Given the description of an element on the screen output the (x, y) to click on. 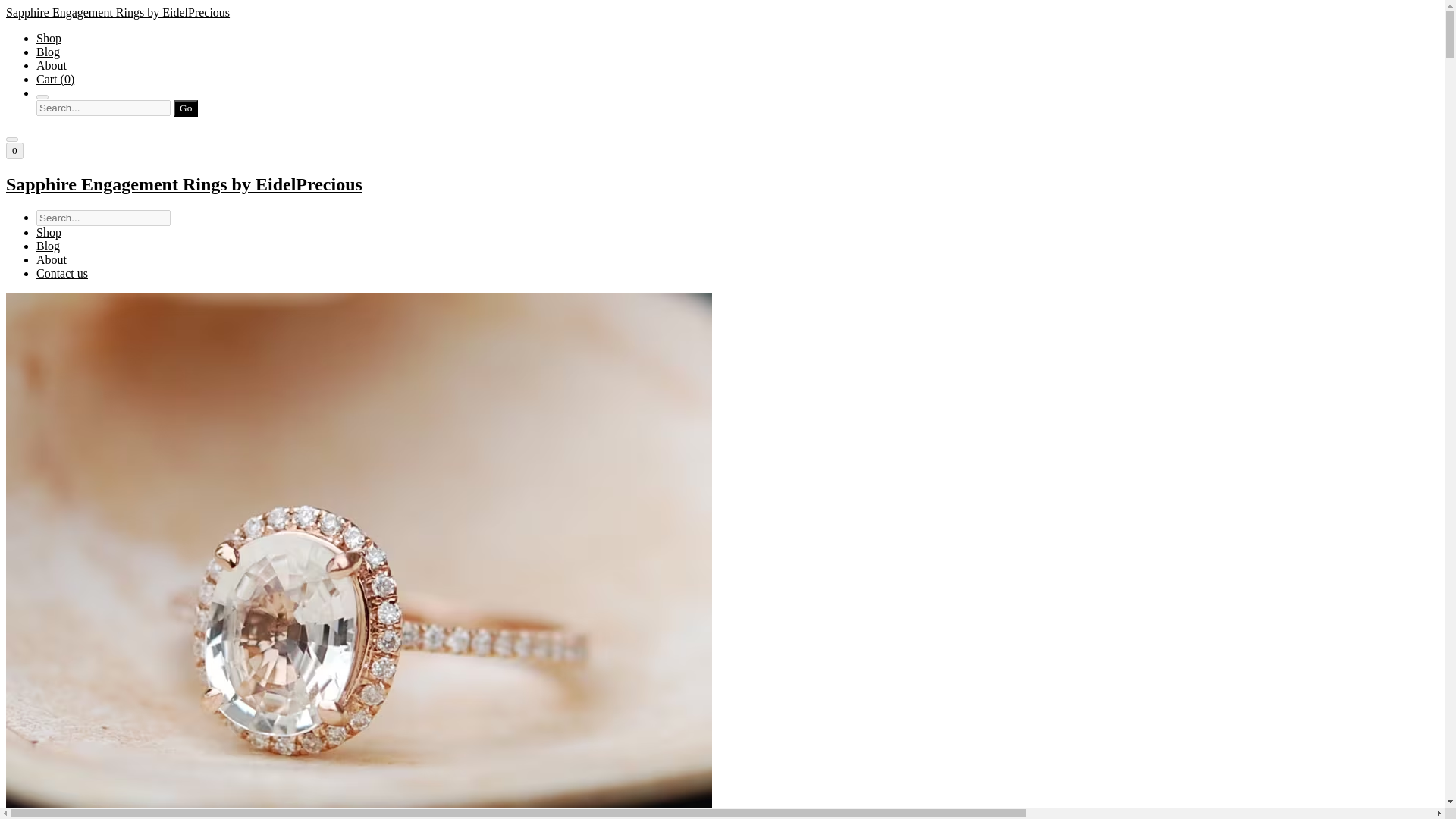
Blog (47, 51)
Shop (48, 38)
Blog (47, 245)
Shop (48, 232)
Contact us (61, 273)
Go (185, 108)
About (51, 65)
Sapphire Engagement Rings by EidelPrecious (721, 184)
About (51, 259)
